Given the description of an element on the screen output the (x, y) to click on. 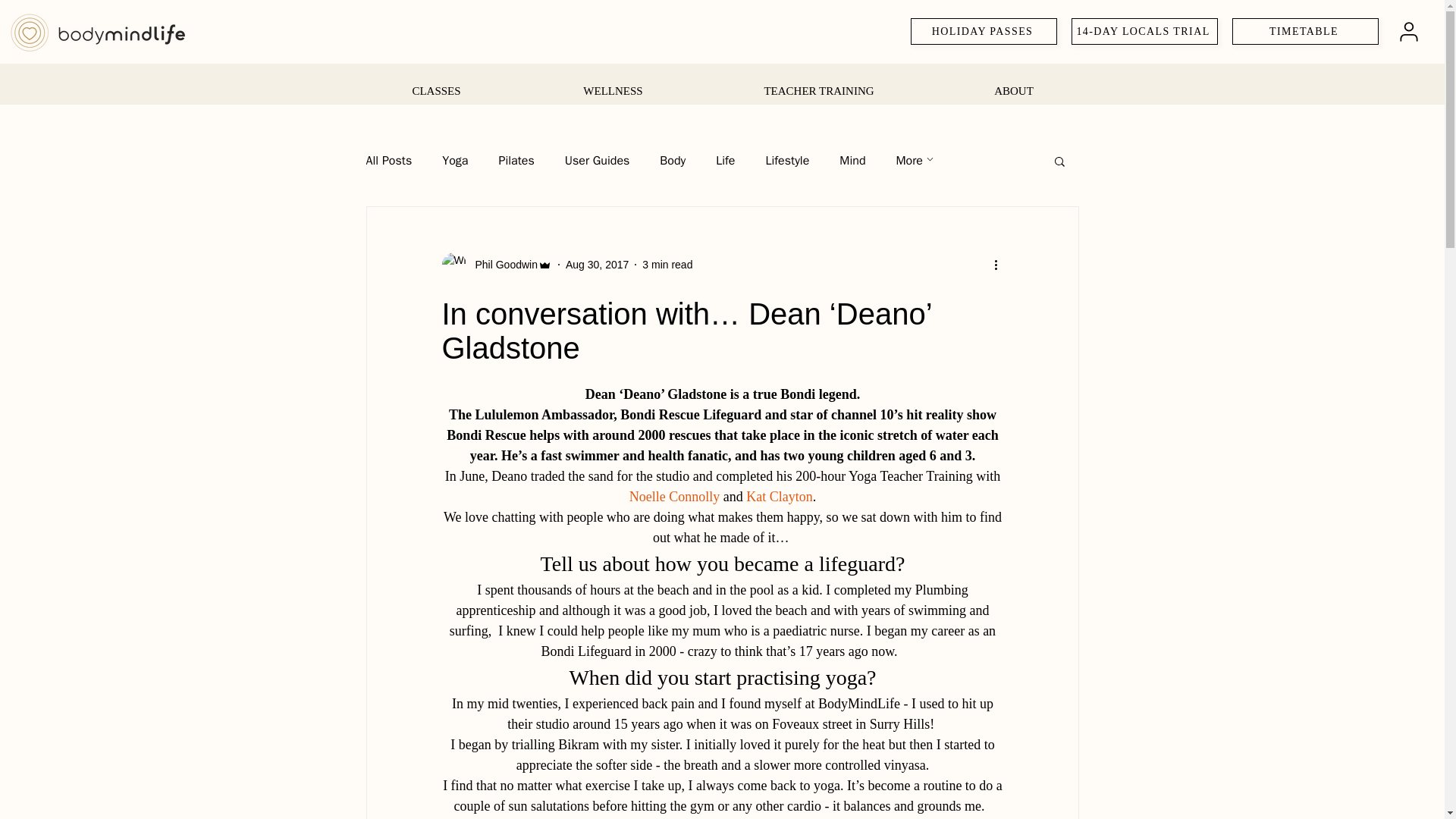
14-DAY LOCALS TRIAL (1144, 31)
Pilates (515, 160)
Kat Clayton (778, 496)
Phil Goodwin (496, 264)
Life (725, 160)
Lifestyle (787, 160)
HOLIDAY PASSES (984, 31)
Yoga (454, 160)
Mind (852, 160)
Noelle Connolly (673, 496)
3 min read (667, 263)
All Posts (388, 160)
User Guides (597, 160)
TIMETABLE (1304, 31)
Phil Goodwin (501, 263)
